Given the description of an element on the screen output the (x, y) to click on. 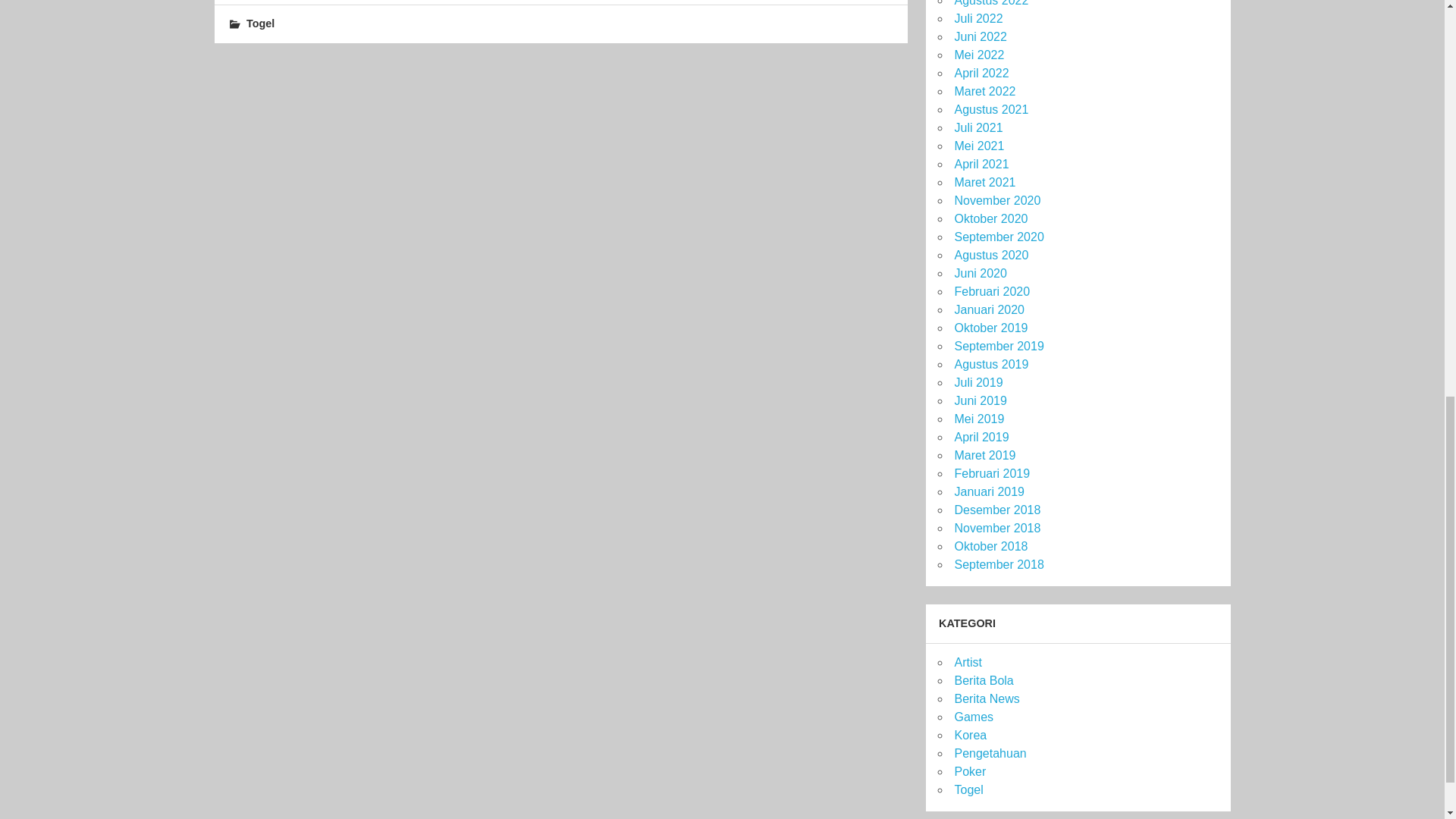
Agustus 2022 (990, 3)
Juli 2022 (978, 18)
Togel (260, 23)
